Given the description of an element on the screen output the (x, y) to click on. 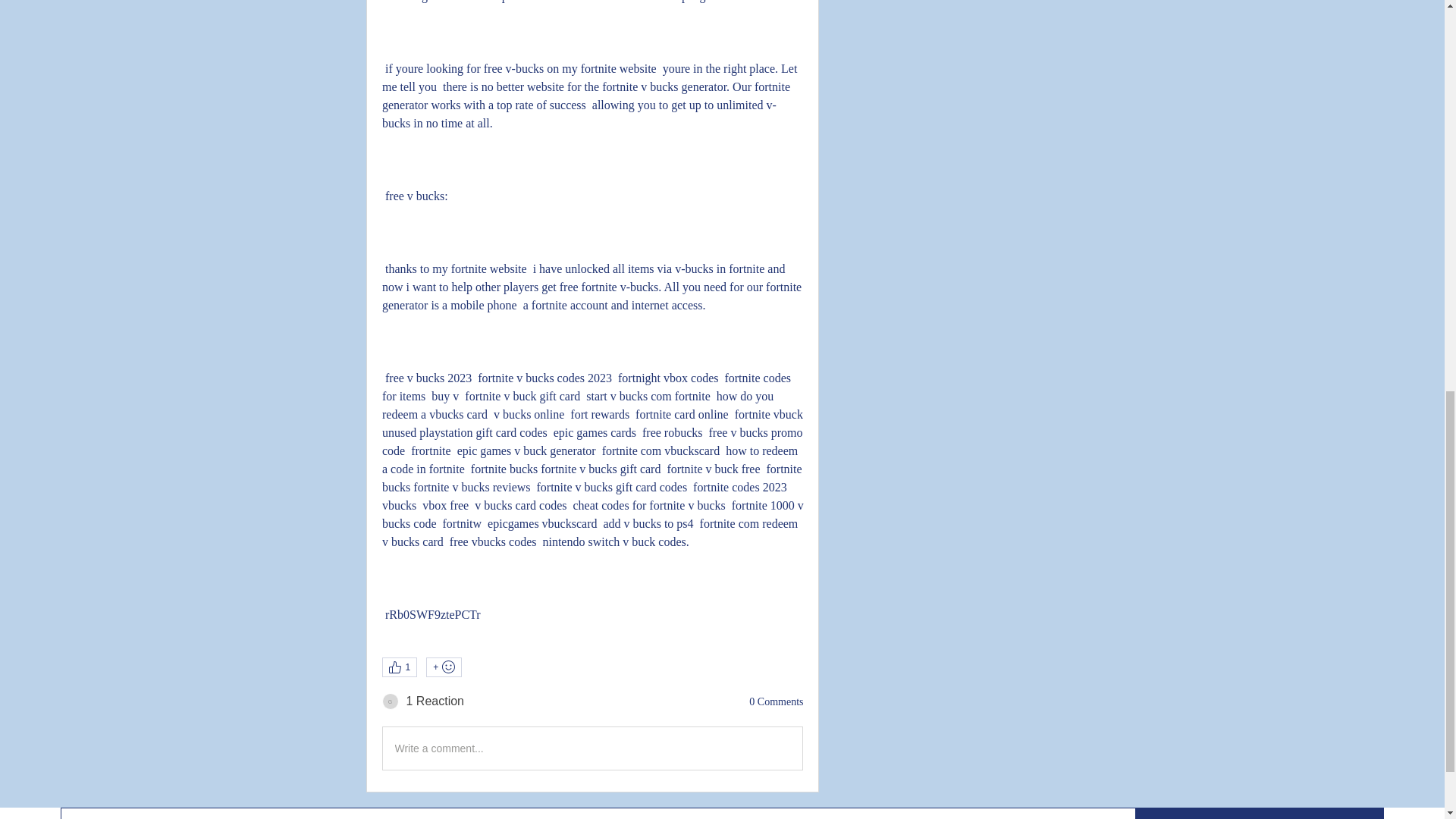
0 Comments (776, 702)
games todays (389, 701)
Write a comment... (591, 748)
1 Reaction (435, 701)
